Given the description of an element on the screen output the (x, y) to click on. 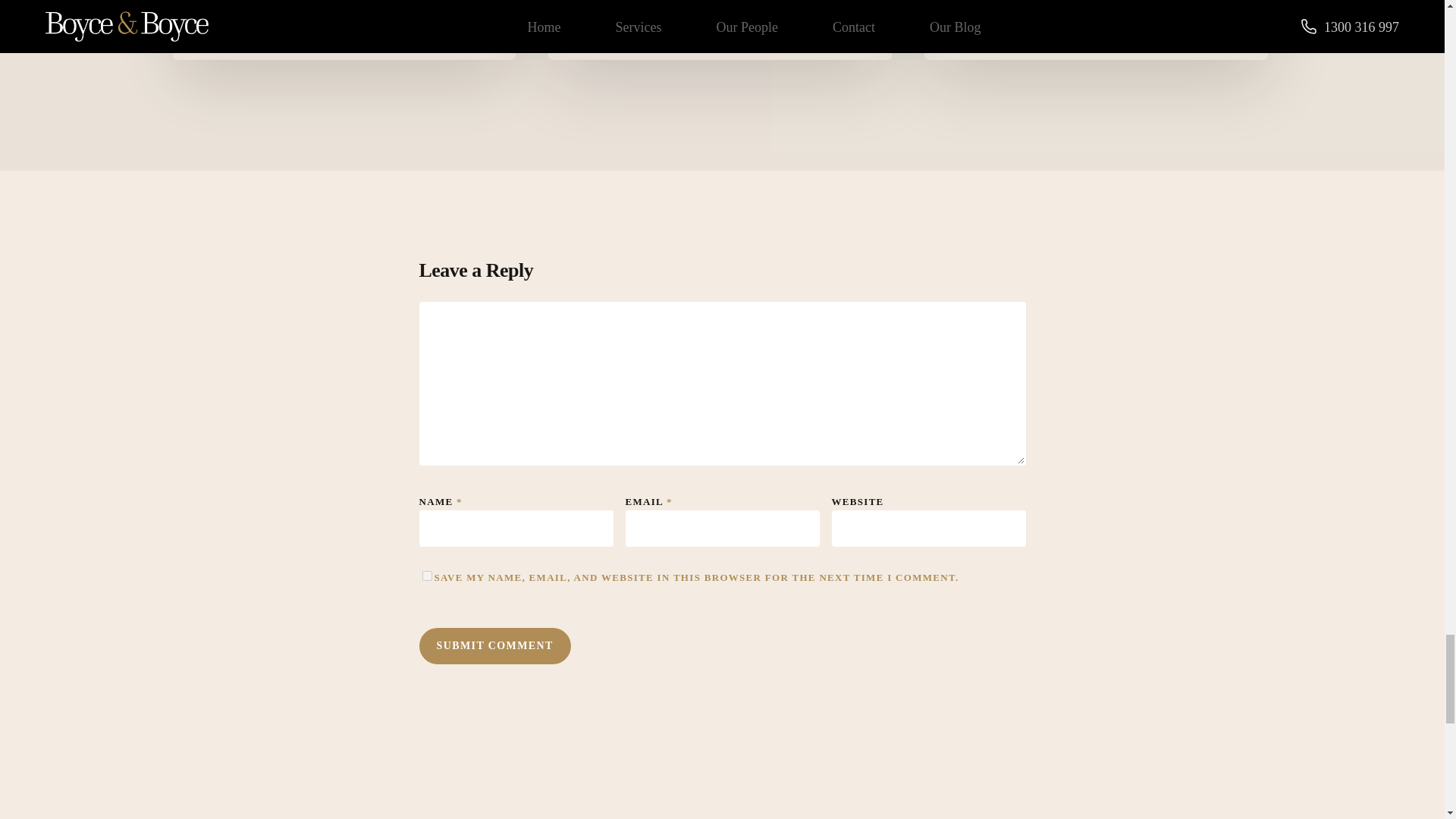
SAMANTHA BOYCE (663, 14)
SAMANTHA BOYCE (287, 14)
Submit Comment (494, 646)
SAMANTHA BOYCE (1039, 14)
yes (426, 575)
Submit Comment (494, 646)
